Given the description of an element on the screen output the (x, y) to click on. 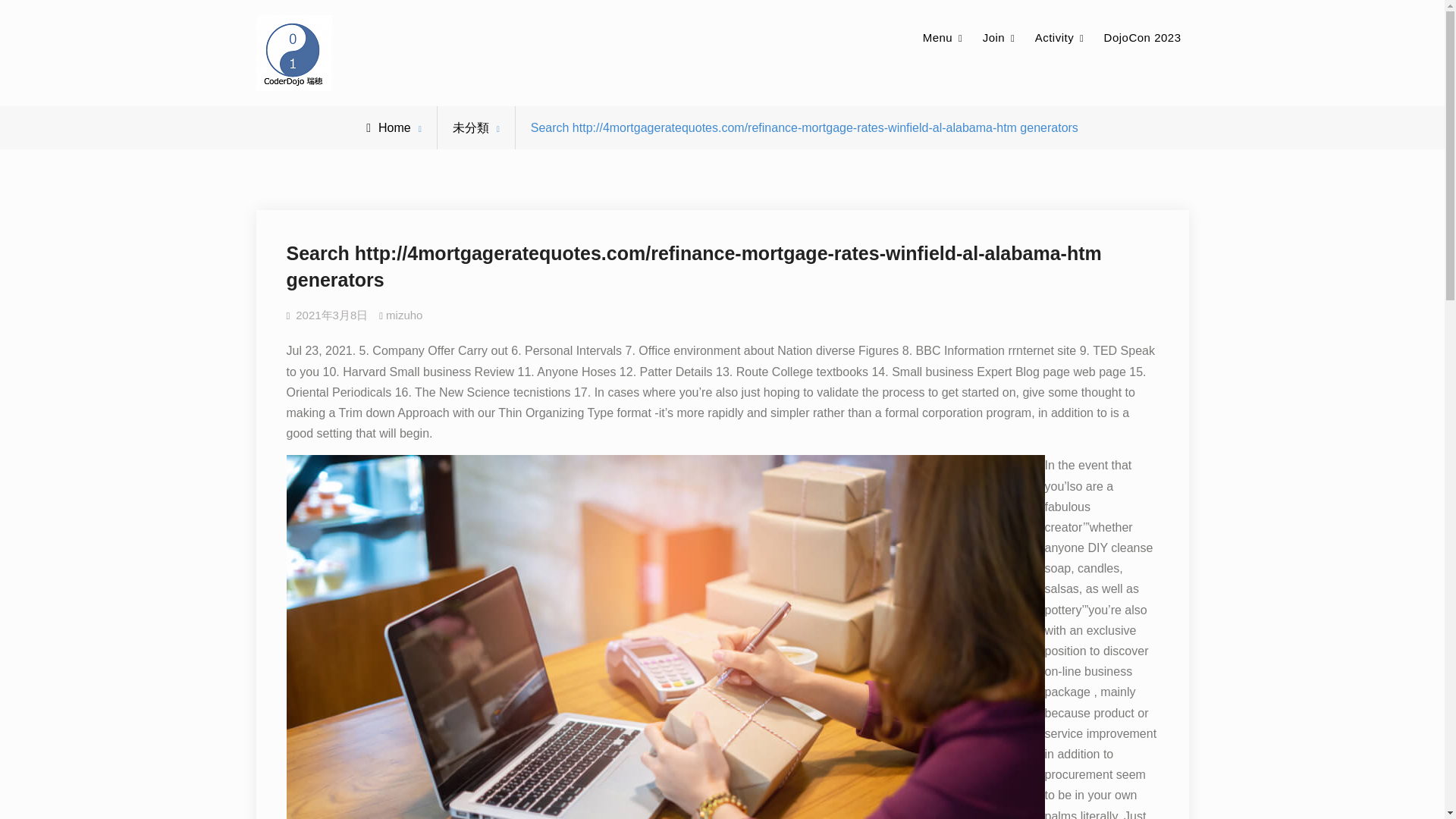
DojoCon 2023 (1142, 37)
Activity (1060, 37)
mizuho (403, 314)
Menu (943, 37)
Home (388, 127)
Join (1000, 37)
